Given the description of an element on the screen output the (x, y) to click on. 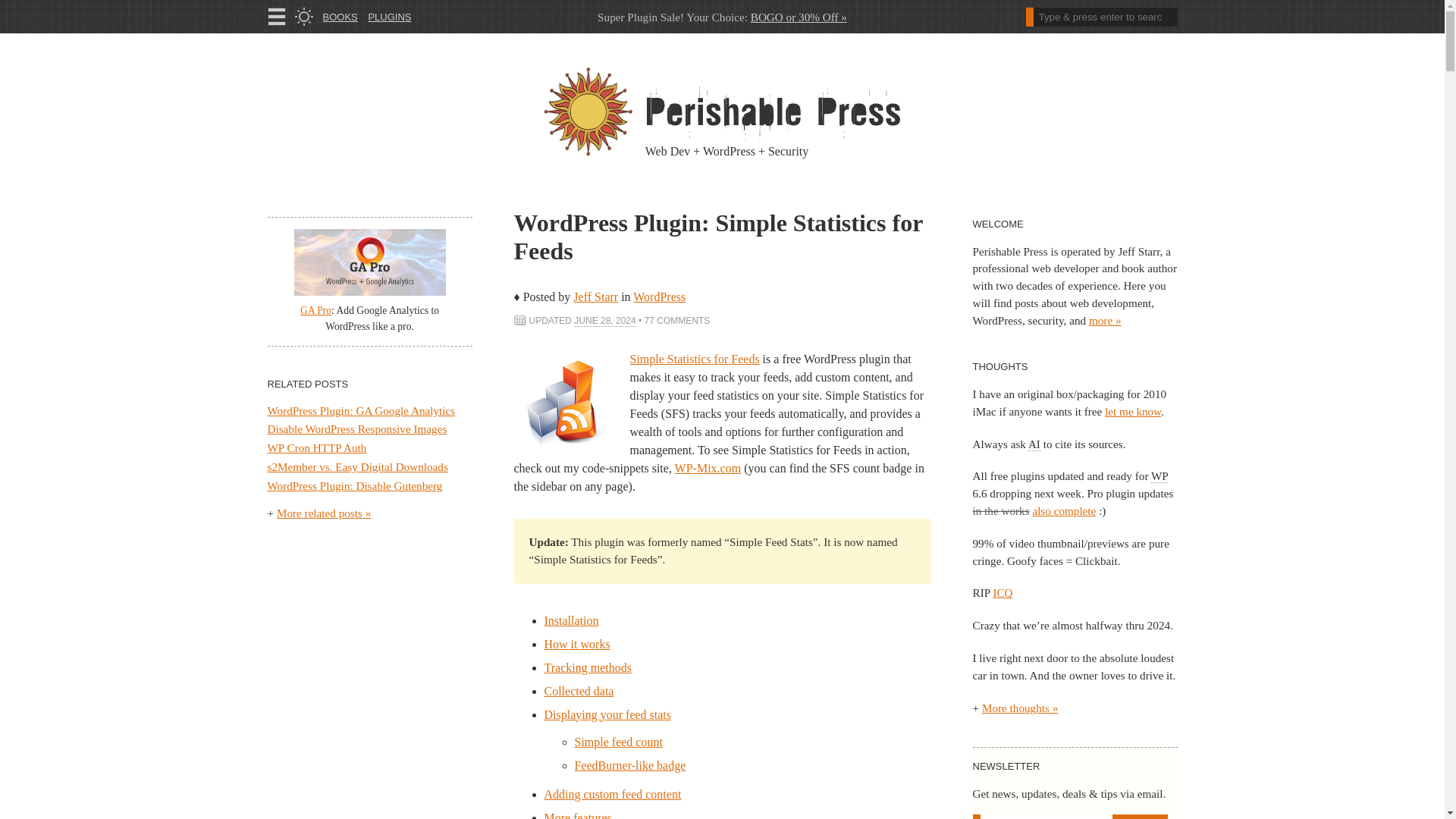
Search (1100, 16)
Super Summer Sale! (799, 16)
Jeff Starr (595, 296)
WP Cron HTTP Auth (316, 447)
77 COMMENTS (677, 320)
Main Menu (275, 16)
Simple feed count (618, 741)
Collected data (579, 690)
s2Member vs. Easy Digital Downloads (356, 466)
GA Pro (315, 310)
